Given the description of an element on the screen output the (x, y) to click on. 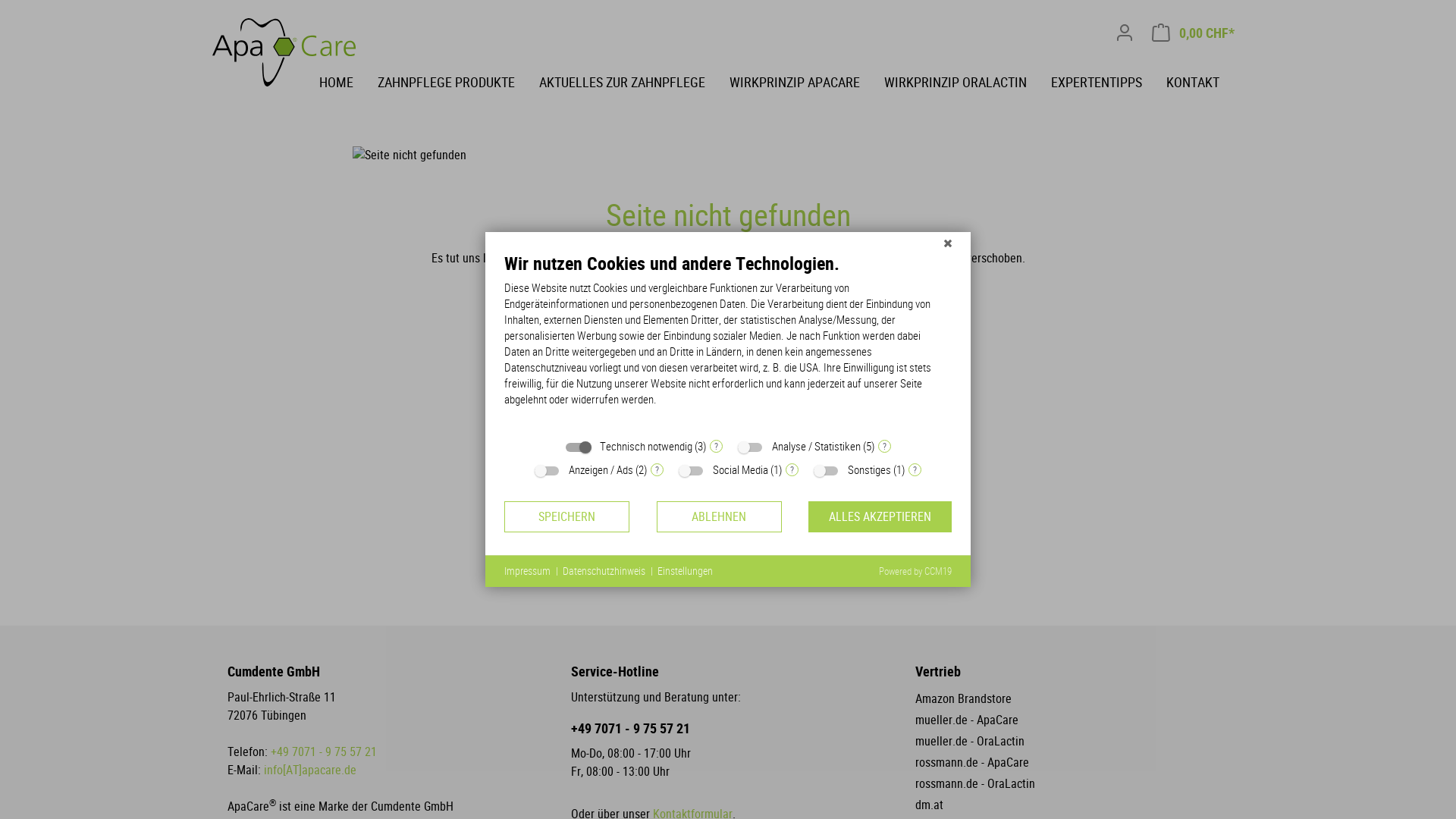
mueller.de - ApaCare Element type: text (966, 719)
AKTUELLES ZUR ZAHNPFLEGE Element type: text (634, 80)
? Element type: text (656, 469)
SPEICHERN Element type: text (566, 516)
WIRKPRINZIP ORALACTIN Element type: text (967, 80)
Powered by CCM19 Element type: text (914, 571)
mueller.de - OraLactin Element type: text (969, 741)
EXPERTENTIPPS Element type: text (1108, 80)
Mein Konto Element type: hover (1124, 33)
? Element type: text (884, 445)
Amazon Brandstore Element type: text (963, 698)
? Element type: text (791, 469)
+49 7071 - 9 75 57 21 Element type: text (323, 751)
dm.at Element type: text (929, 804)
ABLEHNEN Element type: text (718, 516)
Close Element type: hover (947, 243)
HOME Element type: text (348, 80)
Zur Startseite wechseln Element type: hover (288, 52)
? Element type: text (914, 469)
Einstellungen Element type: text (684, 571)
Impressum Element type: text (527, 571)
rossmann.de - OraLactin Element type: text (975, 783)
+49 7071 - 9 75 57 21 Element type: text (727, 728)
? Element type: text (715, 445)
KONTAKT Element type: text (1204, 80)
info[AT]apacare.de Element type: text (309, 769)
ZAHNPFLEGE PRODUKTE Element type: text (458, 80)
WIRKPRINZIP APACARE Element type: text (806, 80)
rossmann.de - ApaCare Element type: text (972, 762)
Datenschutzhinweis Element type: text (603, 571)
0,00 CHF* Element type: text (1192, 33)
ALLES AKZEPTIEREN Element type: text (879, 516)
